Given the description of an element on the screen output the (x, y) to click on. 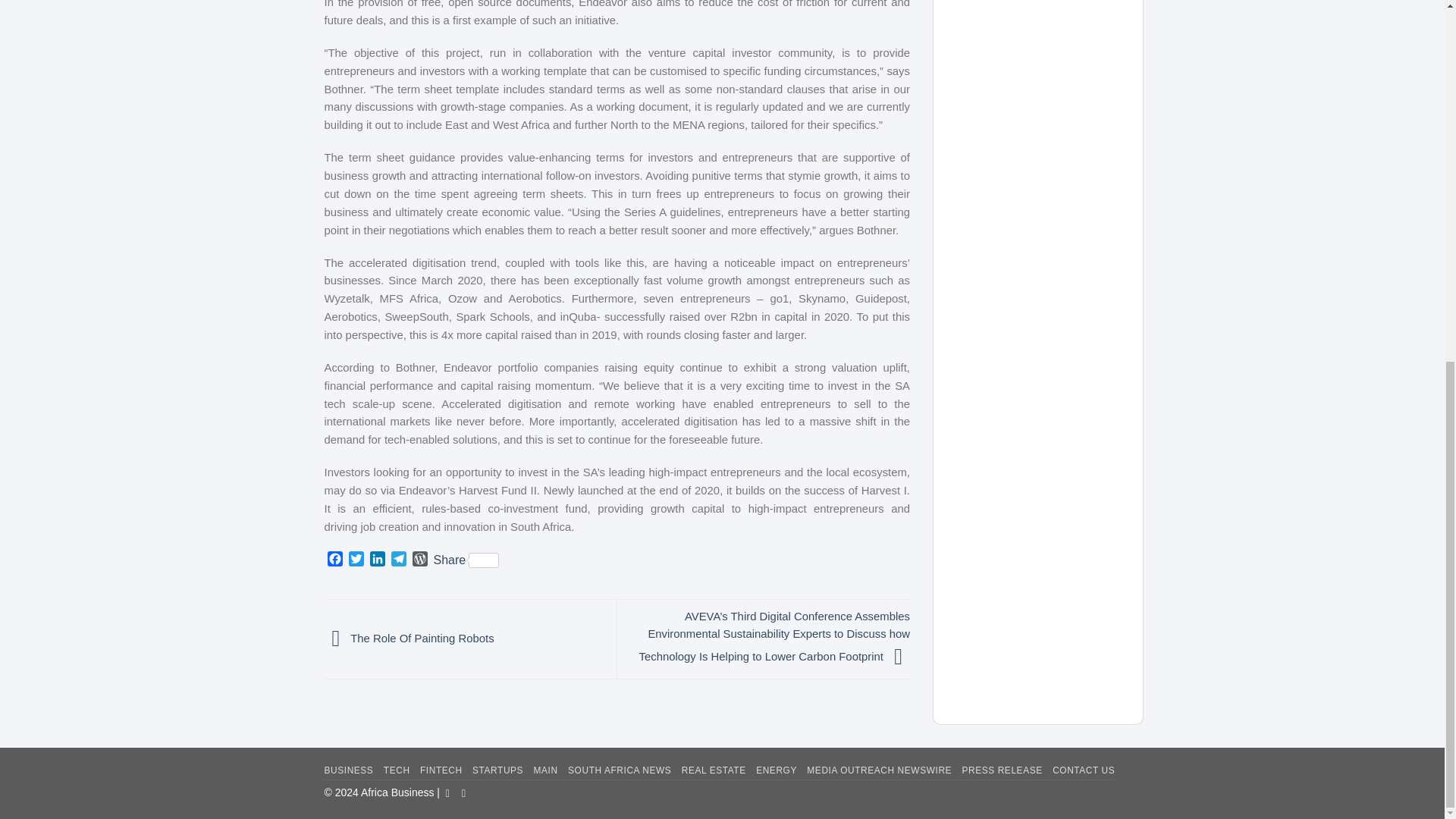
Share (466, 560)
Twitter (356, 560)
LinkedIn (377, 560)
Facebook (335, 560)
The Role Of Painting Robots (409, 638)
Telegram (398, 560)
WordPress (419, 560)
Telegram (398, 560)
Facebook (335, 560)
WordPress (419, 560)
